Given the description of an element on the screen output the (x, y) to click on. 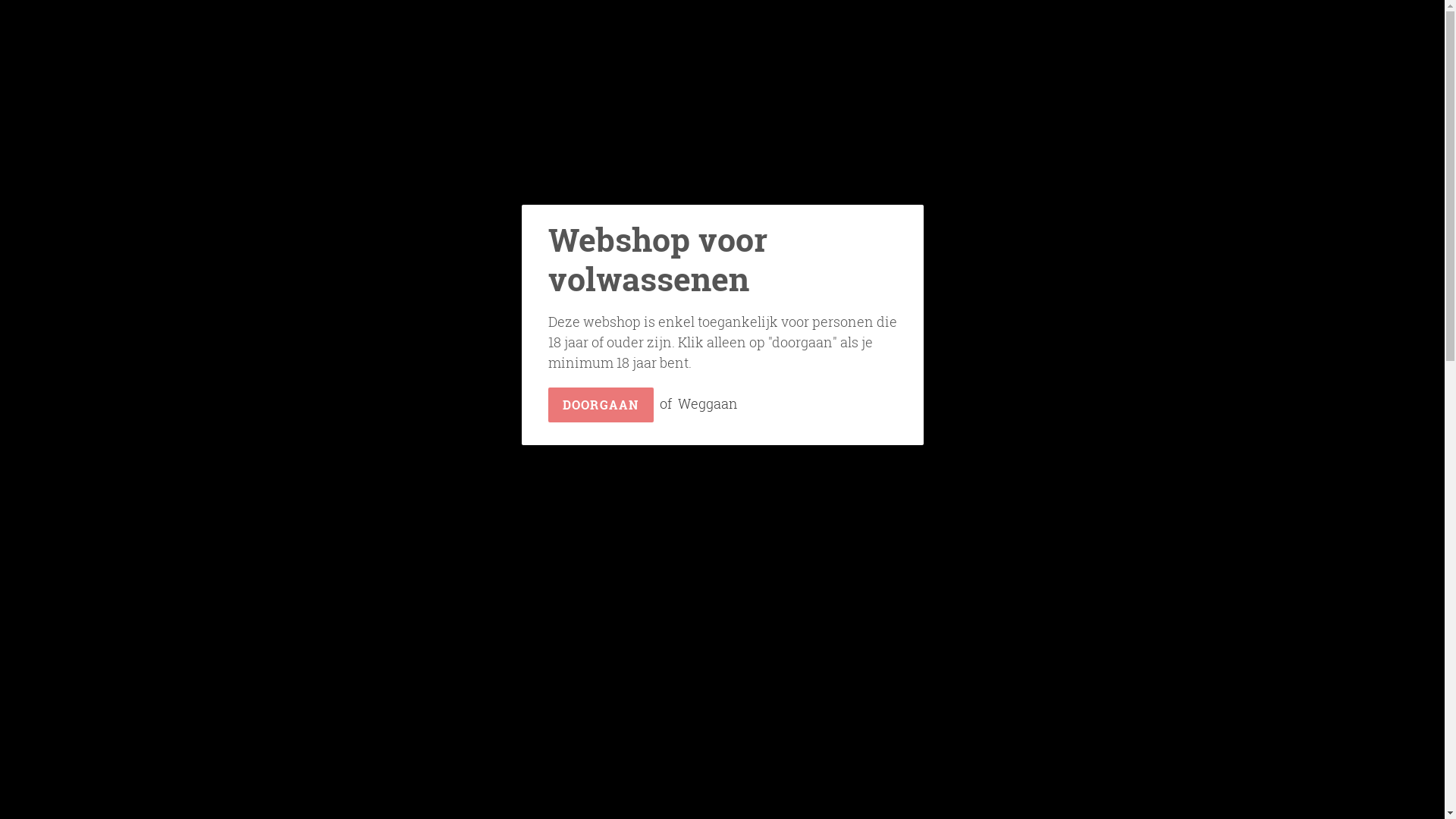
Home Element type: text (560, 75)
Aanmelden Element type: text (1355, 76)
Zoeken Element type: text (1325, 76)
DOORGAAN Element type: text (599, 404)
PIN HET
PINNEN OP PINTEREST Element type: text (930, 618)
Contact Element type: text (877, 75)
TWITTER
TWITTEREN OP TWITTER Element type: text (847, 618)
DELEN
DELEN OP FACEBOOK Element type: text (768, 618)
Weggaan Element type: text (707, 403)
Producten Element type: text (638, 75)
Winkelwagen Element type: text (1386, 76)
Brouwerij Element type: text (727, 75)
AAN WINKELWAGEN TOEVOEGEN Element type: text (934, 483)
Over ons Element type: text (806, 75)
